Given the description of an element on the screen output the (x, y) to click on. 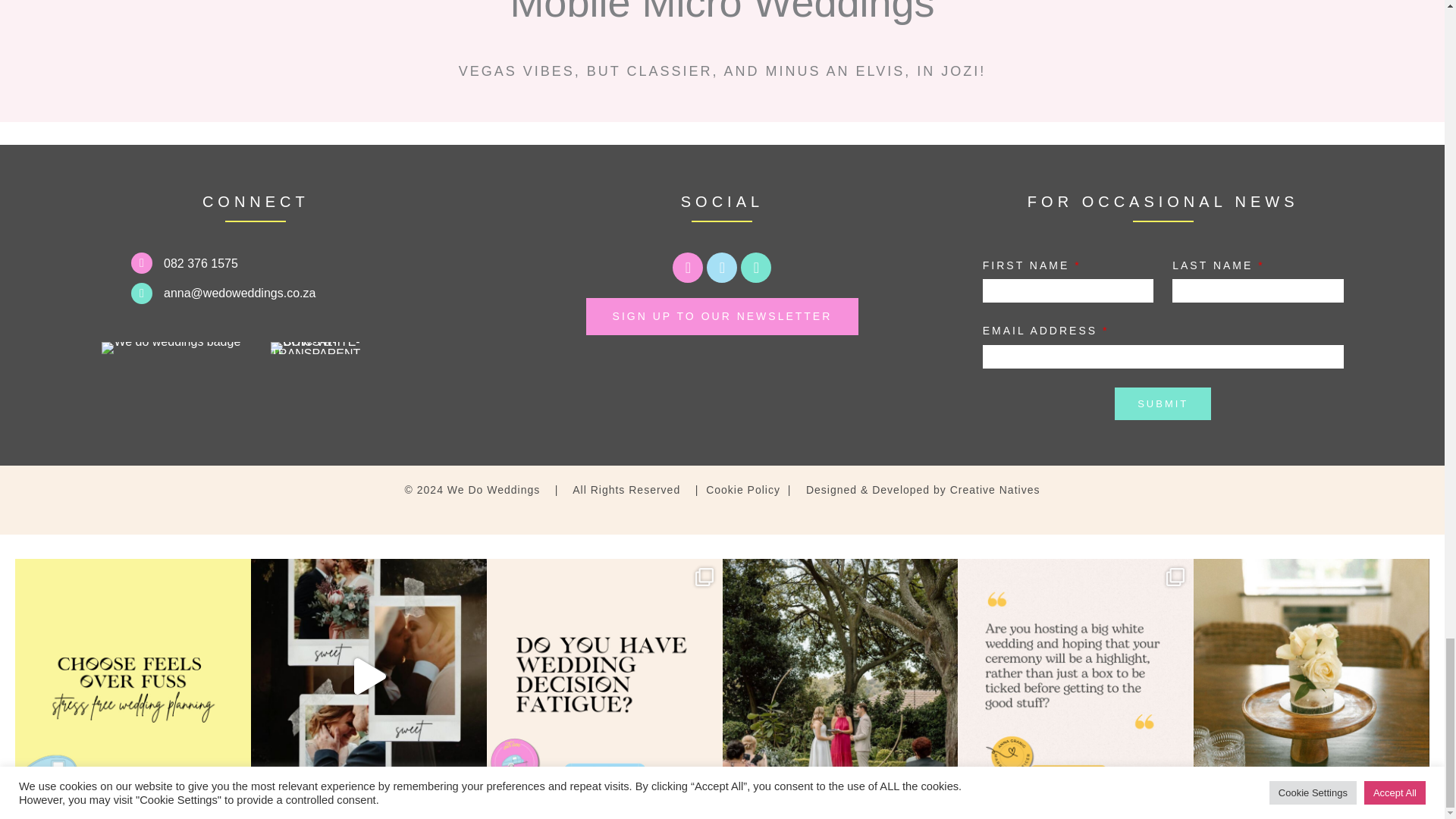
SIGN UP TO OUR NEWSLETTER (722, 316)
Pinterest (756, 267)
082 376 1575 (200, 263)
Facebook (721, 267)
Cookie Policy (740, 490)
Submit (1163, 403)
Submit (1163, 403)
We do weddings badge (170, 347)
Instagram (687, 267)
